Given the description of an element on the screen output the (x, y) to click on. 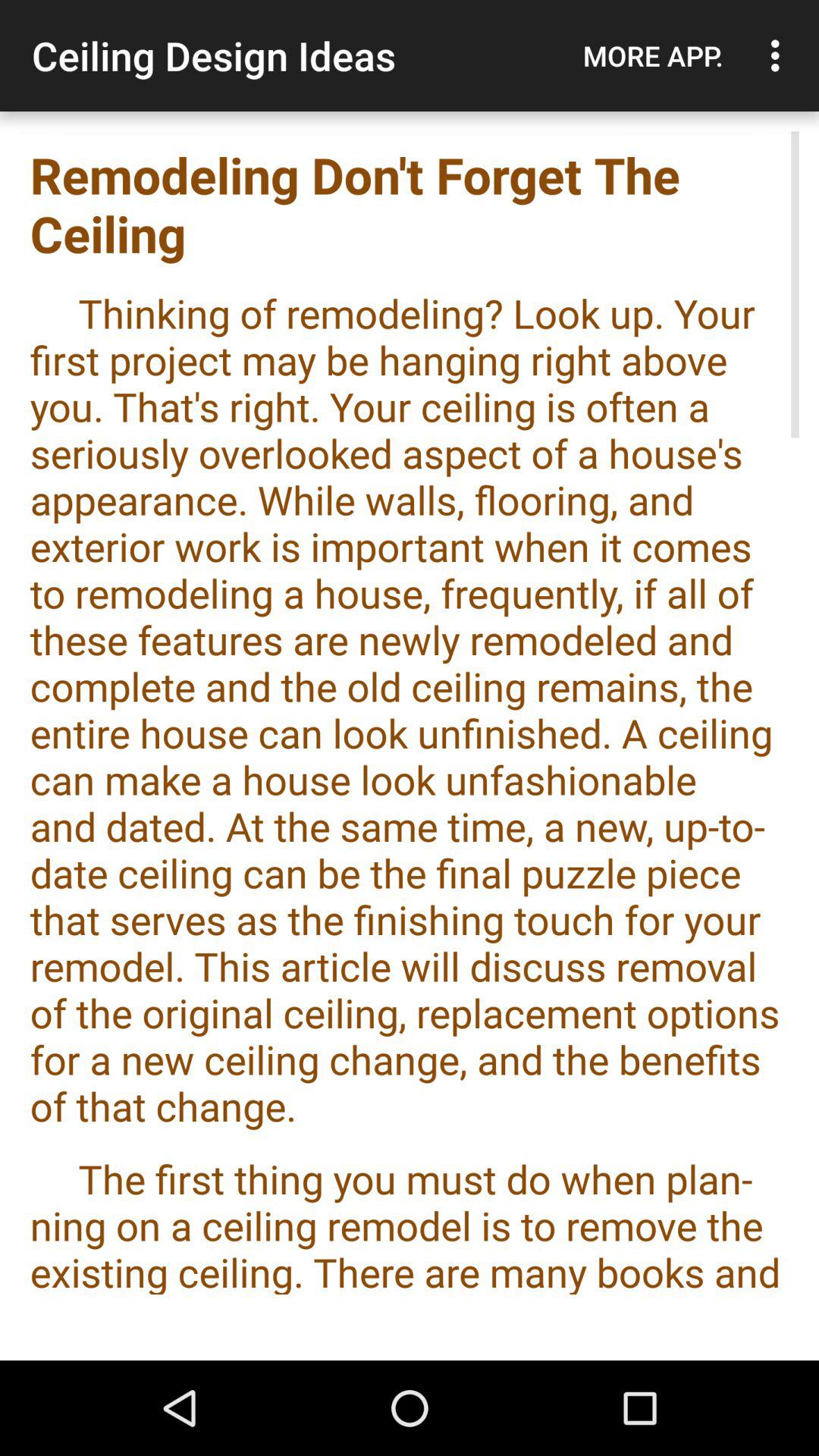
open app above remodeling don t item (779, 55)
